Given the description of an element on the screen output the (x, y) to click on. 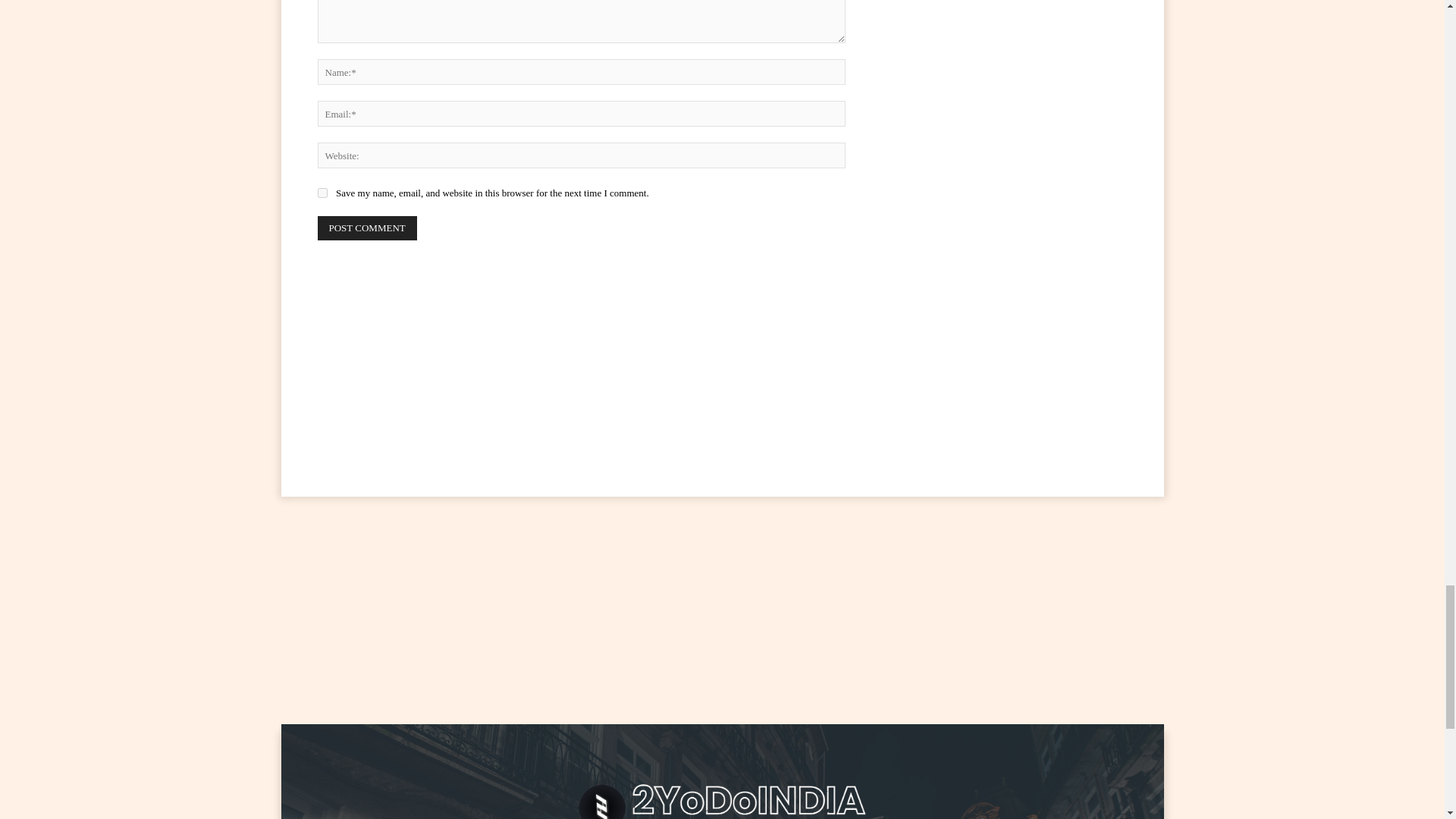
yes (321, 193)
Post Comment (366, 228)
